Given the description of an element on the screen output the (x, y) to click on. 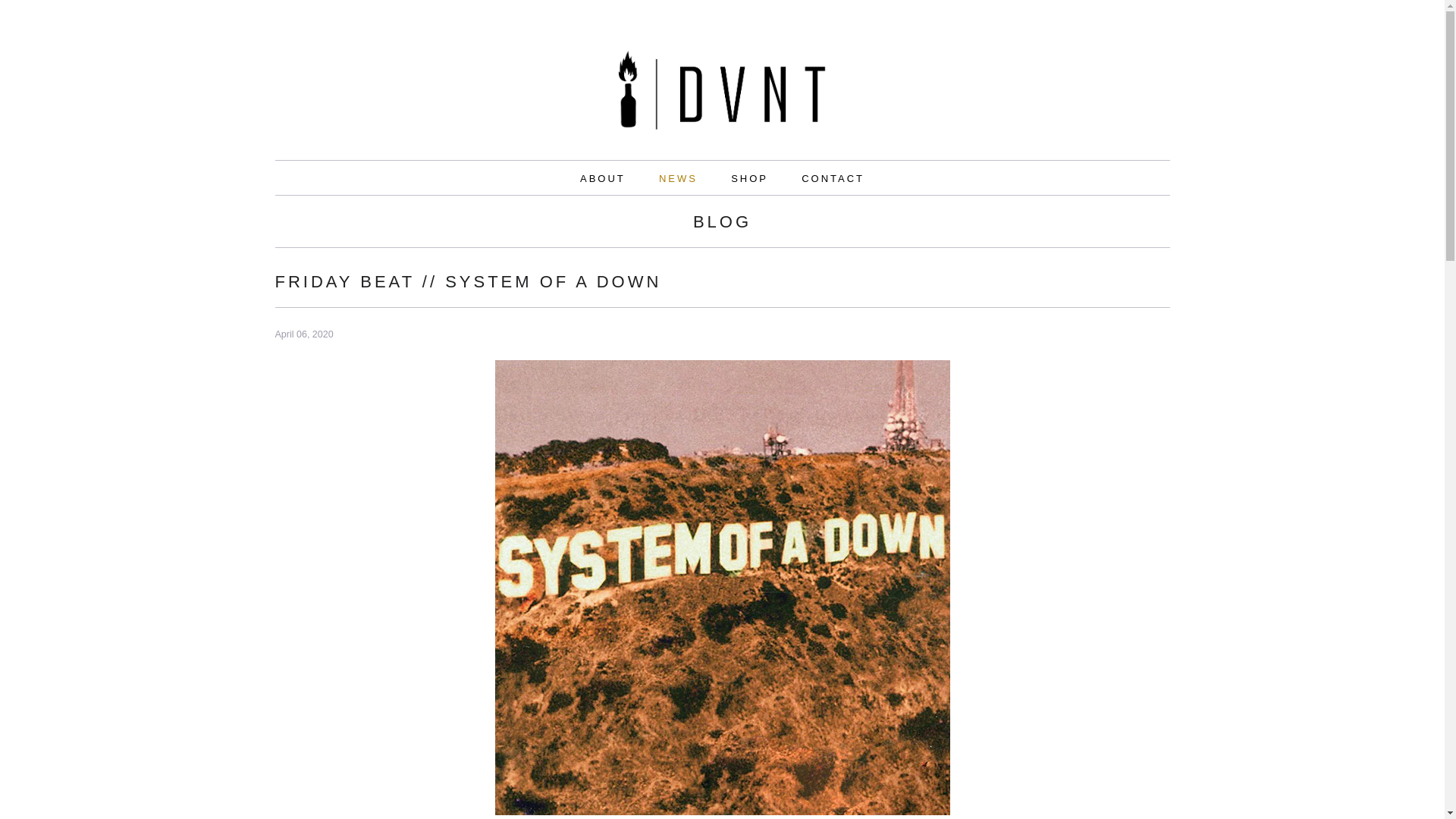
BLOG (722, 225)
DVNT CLOTHING (722, 94)
SHOP (749, 178)
CONTACT (833, 178)
BLOG (722, 225)
NEWS (678, 178)
ABOUT (602, 178)
